Given the description of an element on the screen output the (x, y) to click on. 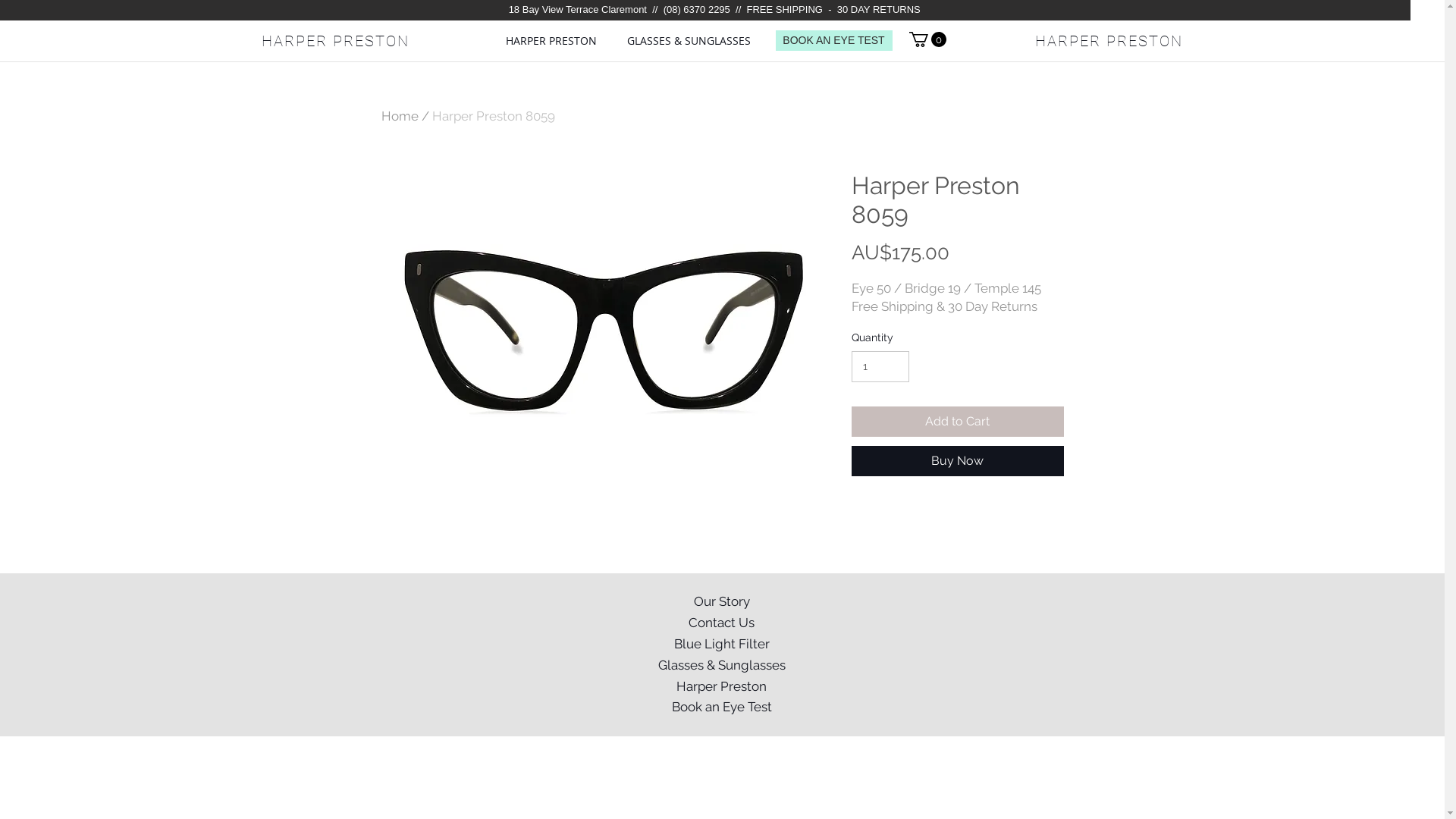
Harper Preston Element type: text (720, 686)
Harper Preston 8059 Element type: text (493, 115)
Our Story Element type: text (720, 601)
Home Element type: text (398, 115)
Blue Light Filter Element type: text (720, 644)
HARPER PRESTON Element type: text (550, 40)
Add to Cart Element type: text (956, 421)
Book an Eye Test Element type: text (720, 707)
Buy Now Element type: text (956, 460)
HARPER PRESTON Element type: text (335, 40)
0 Element type: text (926, 39)
Contact Us Element type: text (720, 622)
GLASSES & SUNGLASSES Element type: text (688, 40)
Glasses & Sunglasses Element type: text (720, 665)
BOOK AN EYE TEST Element type: text (833, 40)
HARPER PRESTON Element type: text (1109, 40)
